Given the description of an element on the screen output the (x, y) to click on. 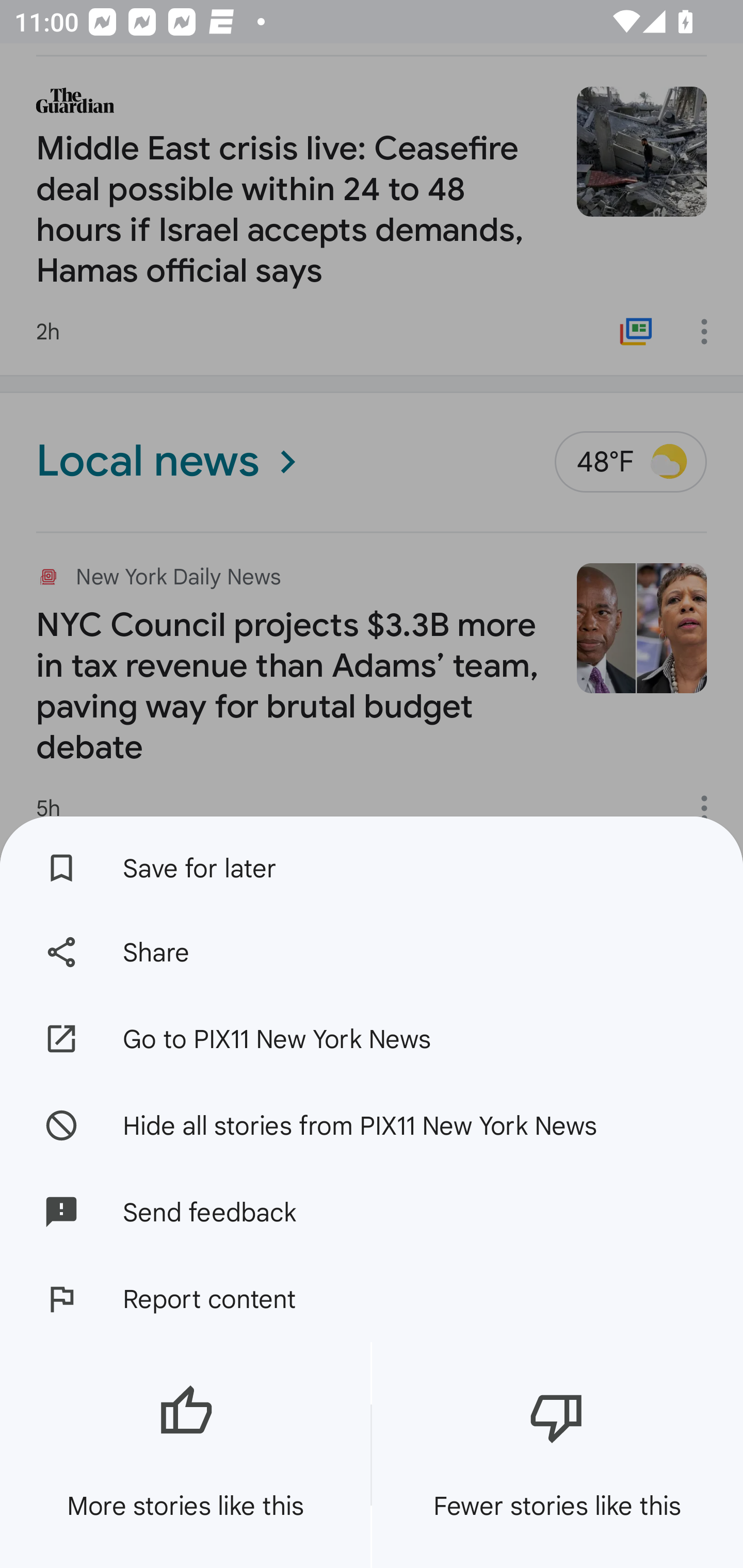
Save for later (371, 862)
Share (371, 952)
Go to PIX11 New York News (371, 1038)
Hide all stories from PIX11 New York News (371, 1124)
Send feedback (371, 1211)
Report content (371, 1298)
More stories like this (185, 1455)
Fewer stories like this (557, 1455)
